Given the description of an element on the screen output the (x, y) to click on. 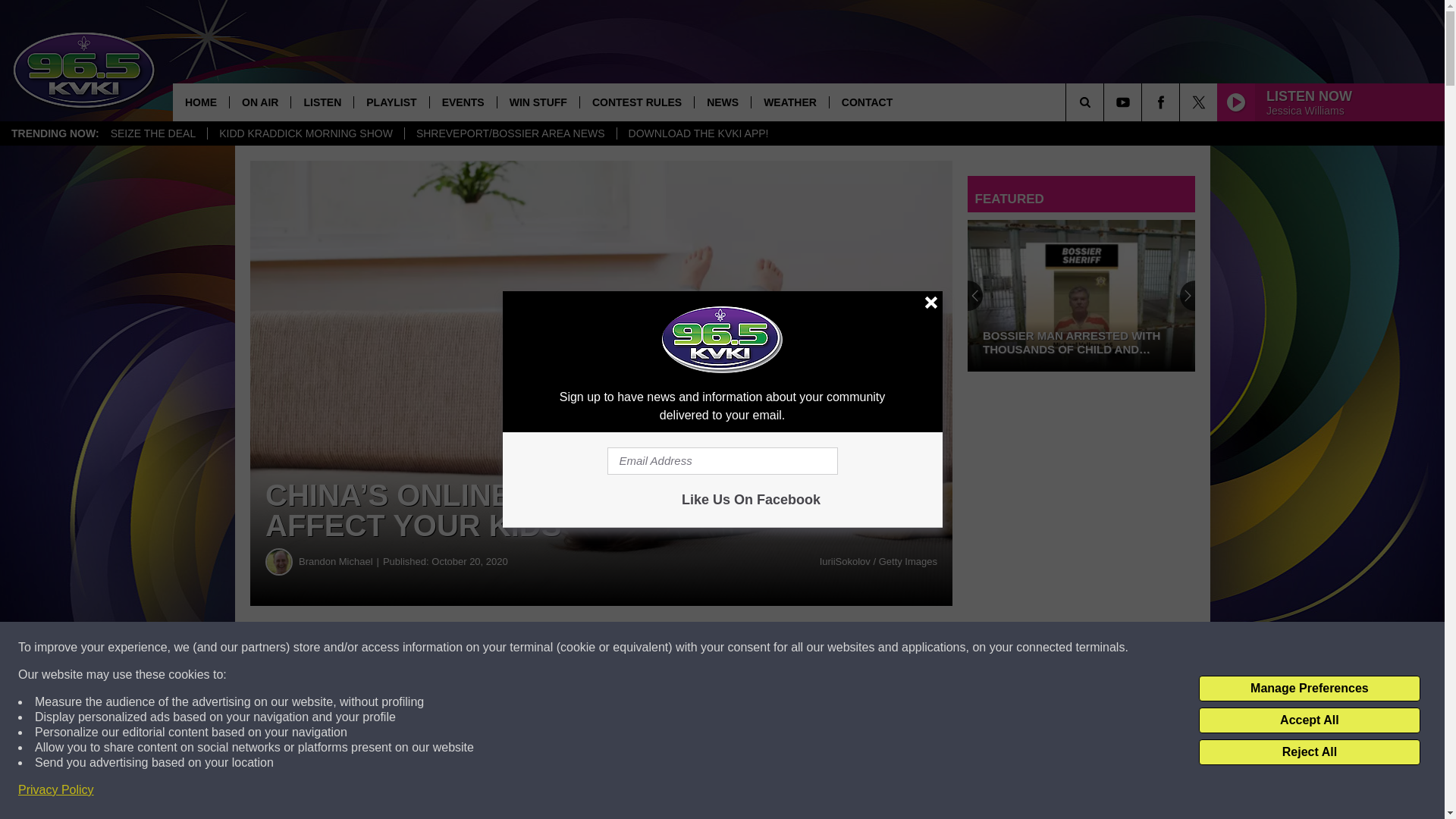
LISTEN (321, 102)
PLAYLIST (390, 102)
SEIZE THE DEAL (153, 133)
DOWNLOAD THE KVKI APP! (697, 133)
Accept All (1309, 720)
Privacy Policy (55, 789)
KIDD KRADDICK MORNING SHOW (305, 133)
HOME (200, 102)
ON AIR (258, 102)
Share on Facebook (460, 647)
CONTEST RULES (636, 102)
NEWS (722, 102)
WIN STUFF (537, 102)
Reject All (1309, 751)
SEARCH (1106, 102)
